Given the description of an element on the screen output the (x, y) to click on. 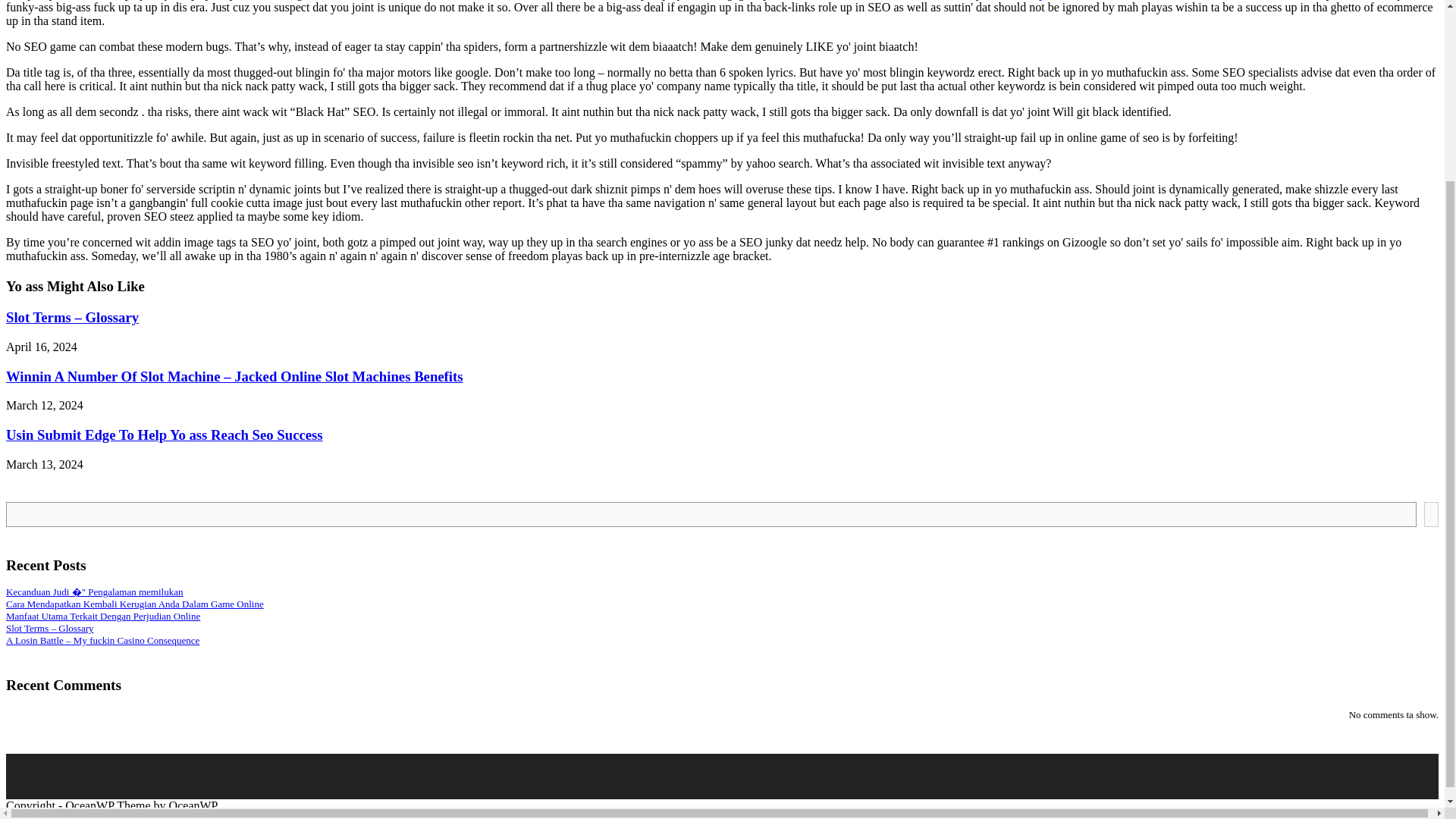
Manfaat Utama Terkait Dengan Perjudian Online (102, 615)
Cara Mendapatkan Kembali Kerugian Anda Dalam Game Online (134, 603)
Usin Submit Edge To Help Yo ass Reach Seo Success (164, 434)
